Given the description of an element on the screen output the (x, y) to click on. 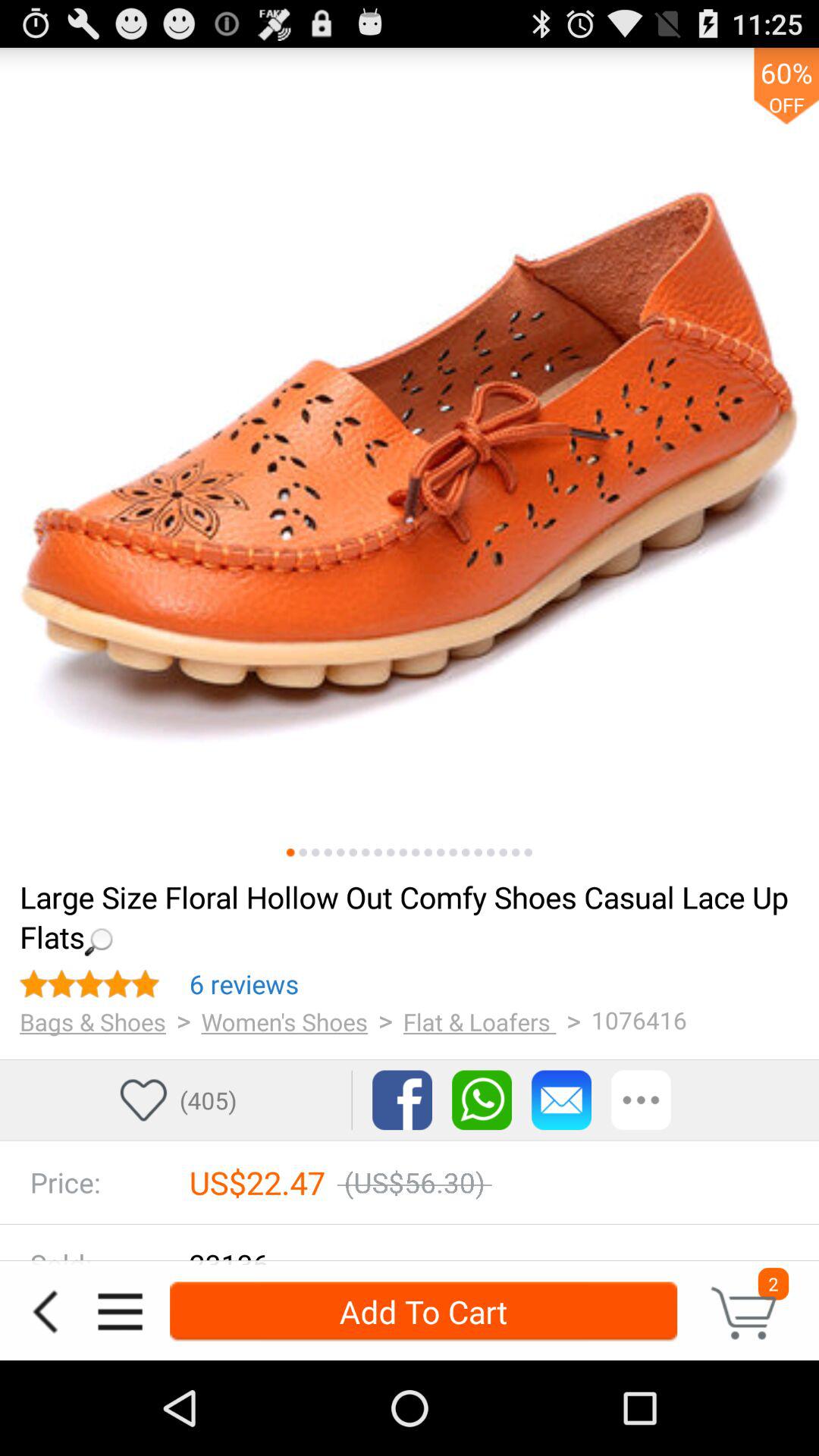
view the 19th picture (515, 852)
